Given the description of an element on the screen output the (x, y) to click on. 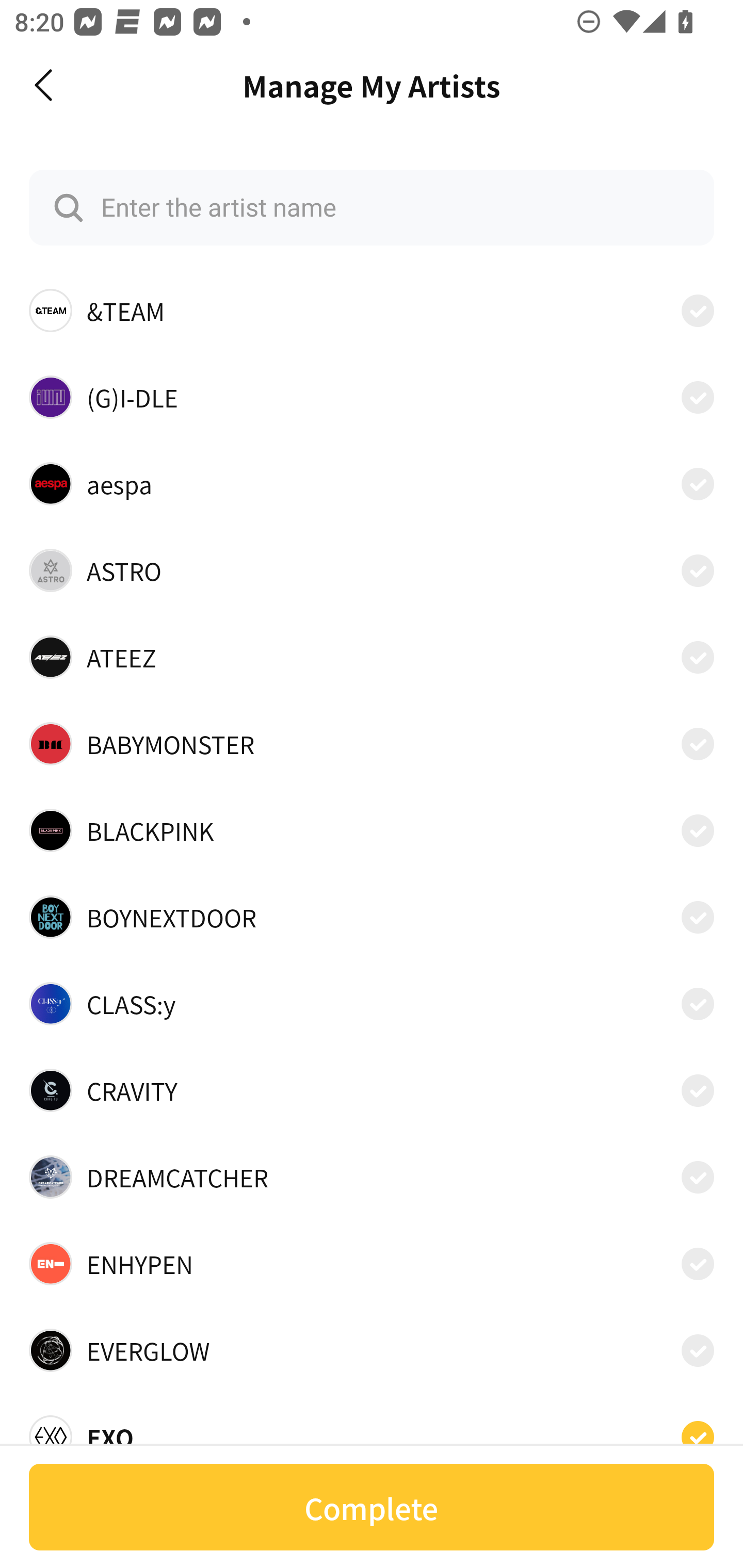
Enter the artist name (371, 207)
&TEAM (371, 310)
(G)I-DLE (371, 396)
aespa (371, 483)
ASTRO (371, 570)
ATEEZ (371, 656)
BABYMONSTER (371, 743)
BLACKPINK (371, 830)
BOYNEXTDOOR (371, 917)
CLASS:y (371, 1003)
CRAVITY (371, 1090)
DREAMCATCHER (371, 1176)
ENHYPEN (371, 1263)
EVERGLOW (371, 1350)
EXO (371, 1430)
Complete (371, 1507)
